Given the description of an element on the screen output the (x, y) to click on. 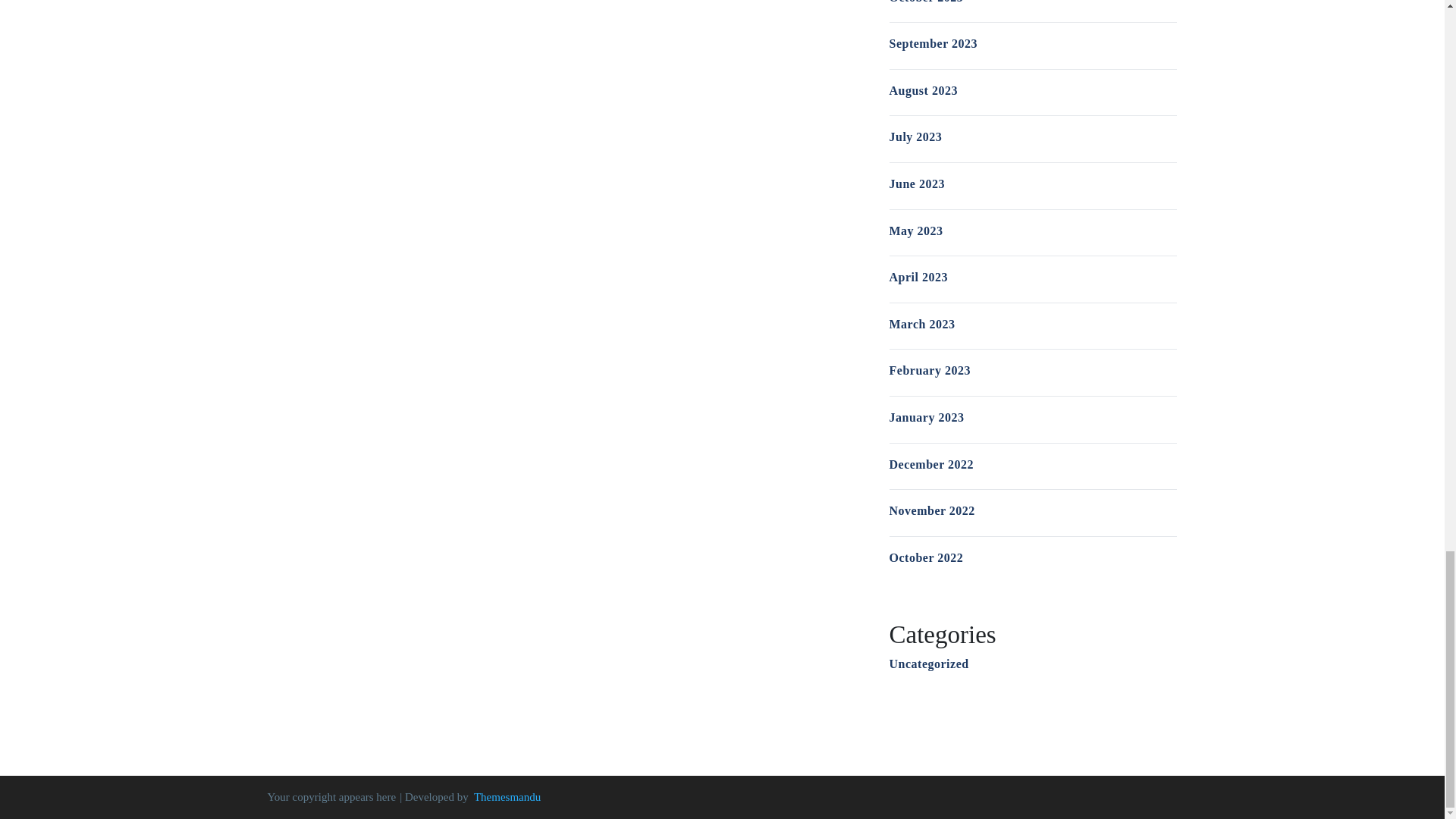
May 2023 (915, 230)
July 2023 (915, 136)
September 2023 (932, 42)
October 2023 (925, 2)
August 2023 (922, 90)
April 2023 (917, 277)
June 2023 (915, 183)
